Given the description of an element on the screen output the (x, y) to click on. 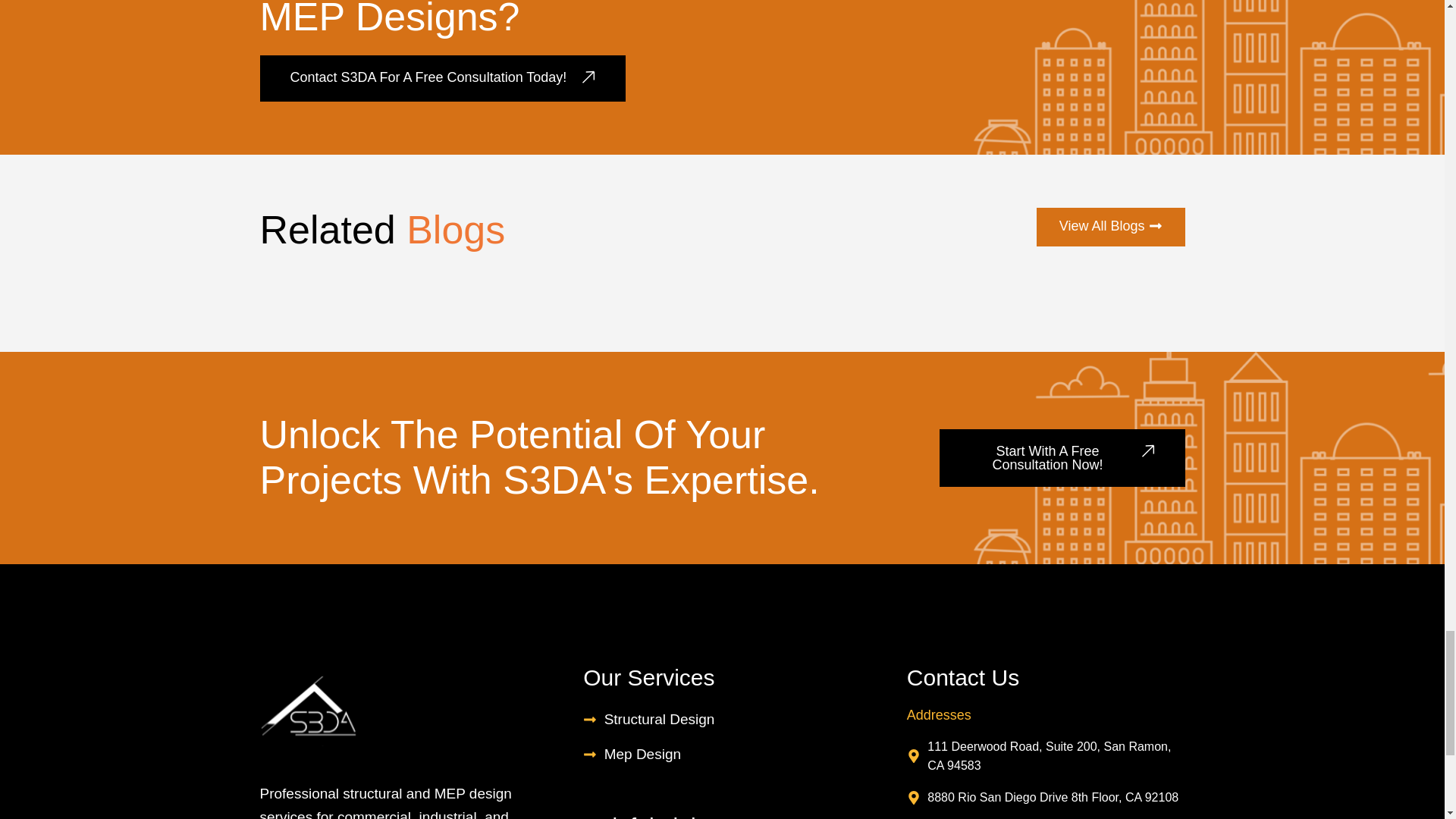
Start With A Free Consultation Now! (1062, 457)
Contact S3DA For A Free Consultation Today! (442, 78)
View All Blogs (1110, 227)
